Given the description of an element on the screen output the (x, y) to click on. 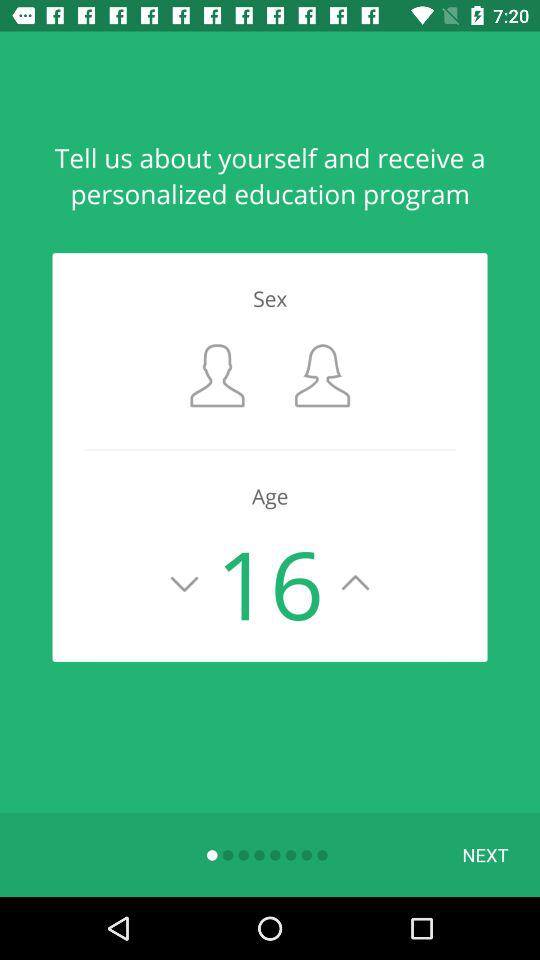
female selector (322, 375)
